Given the description of an element on the screen output the (x, y) to click on. 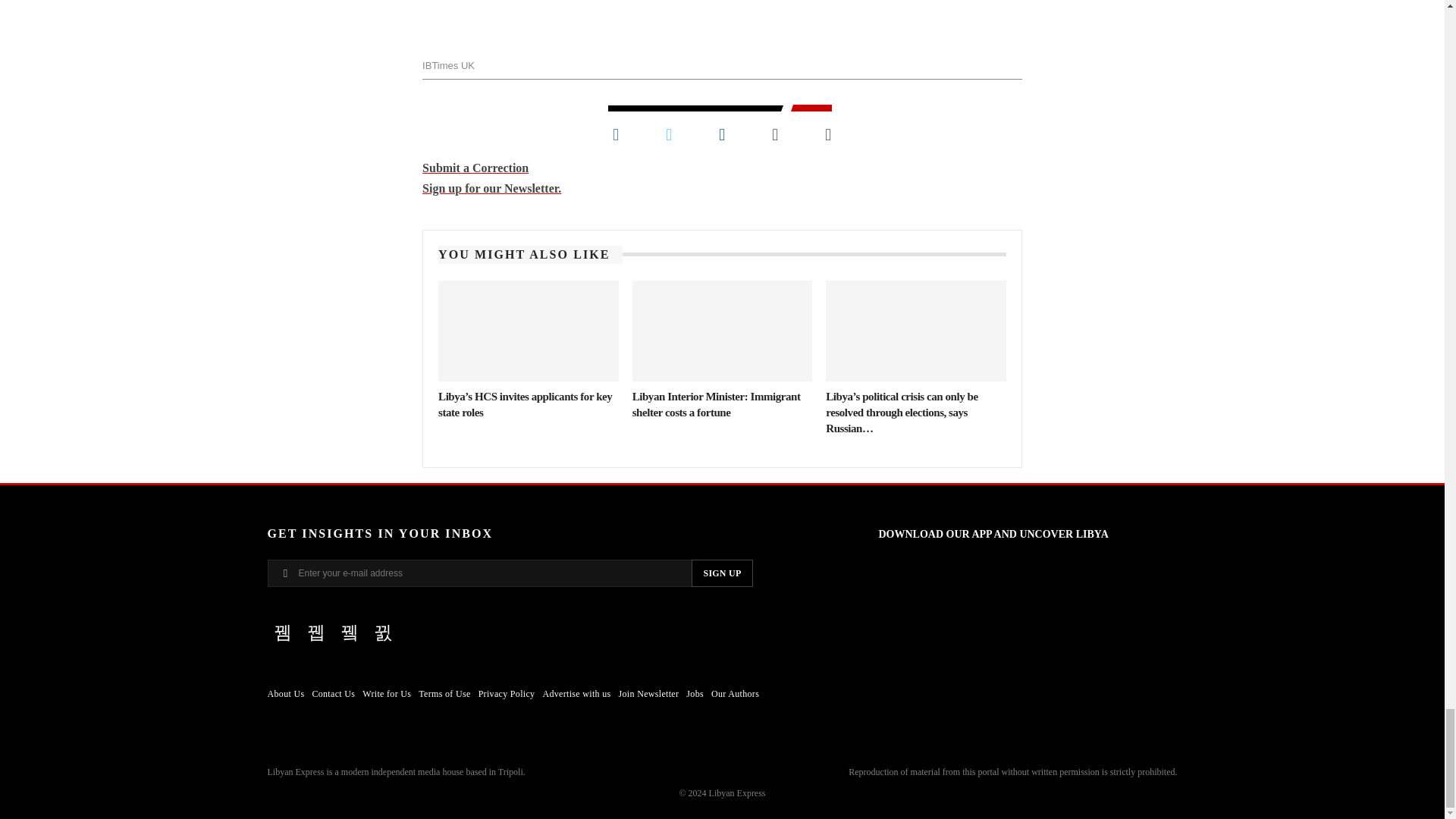
Sign Up (721, 573)
